Given the description of an element on the screen output the (x, y) to click on. 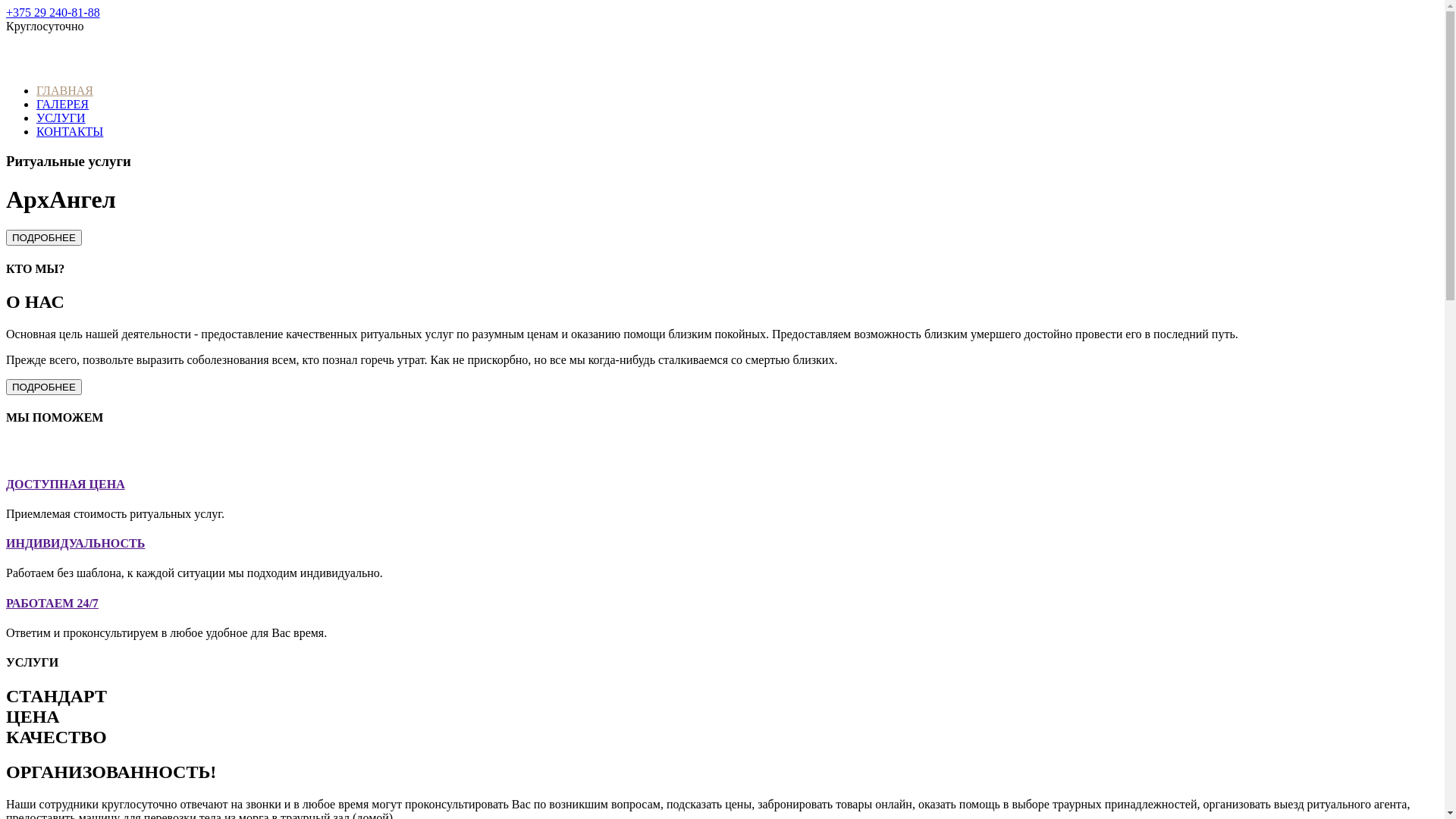
+375 29 240-81-88 Element type: text (53, 12)
